Given the description of an element on the screen output the (x, y) to click on. 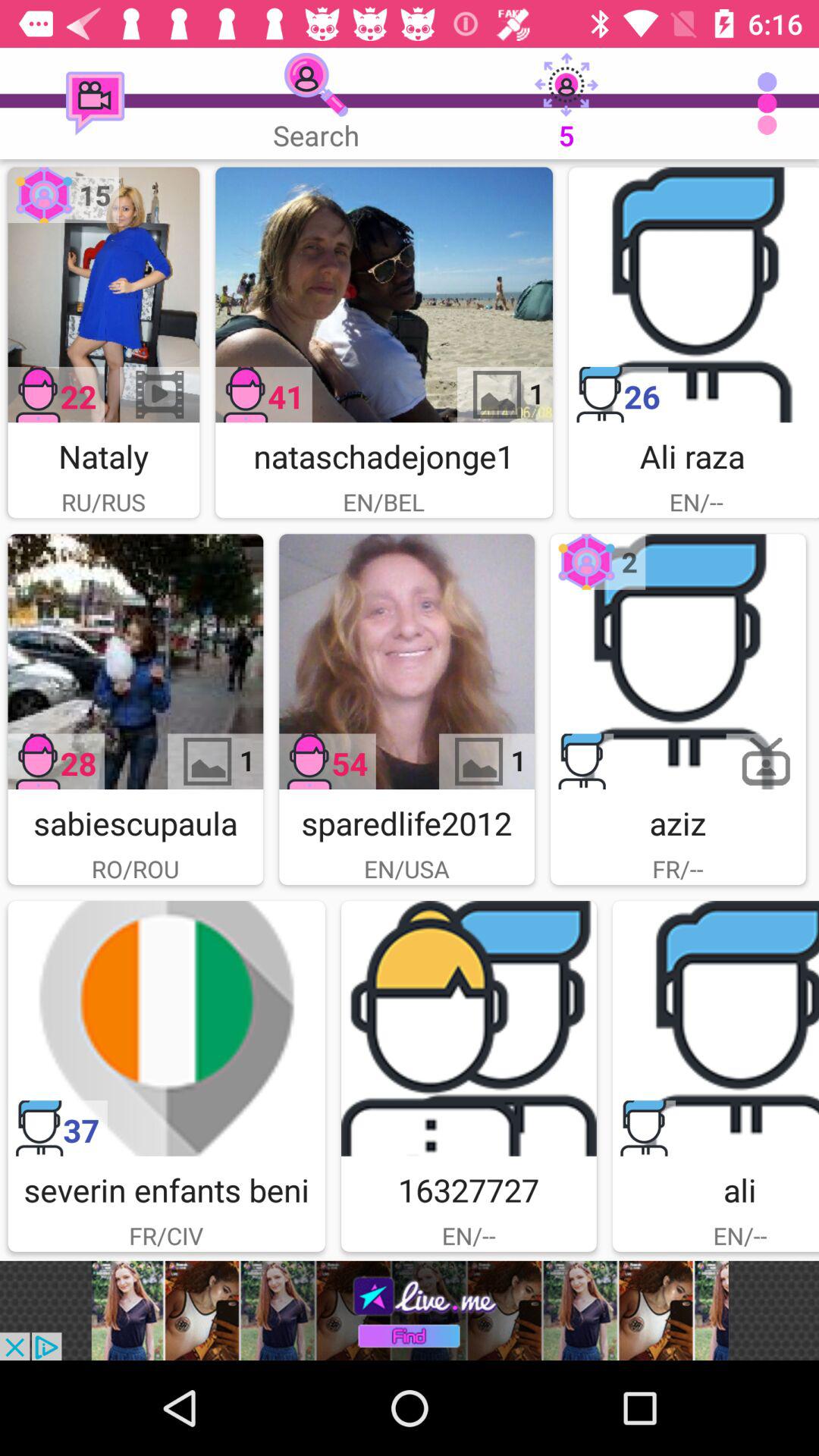
view advertisement (409, 1310)
